Given the description of an element on the screen output the (x, y) to click on. 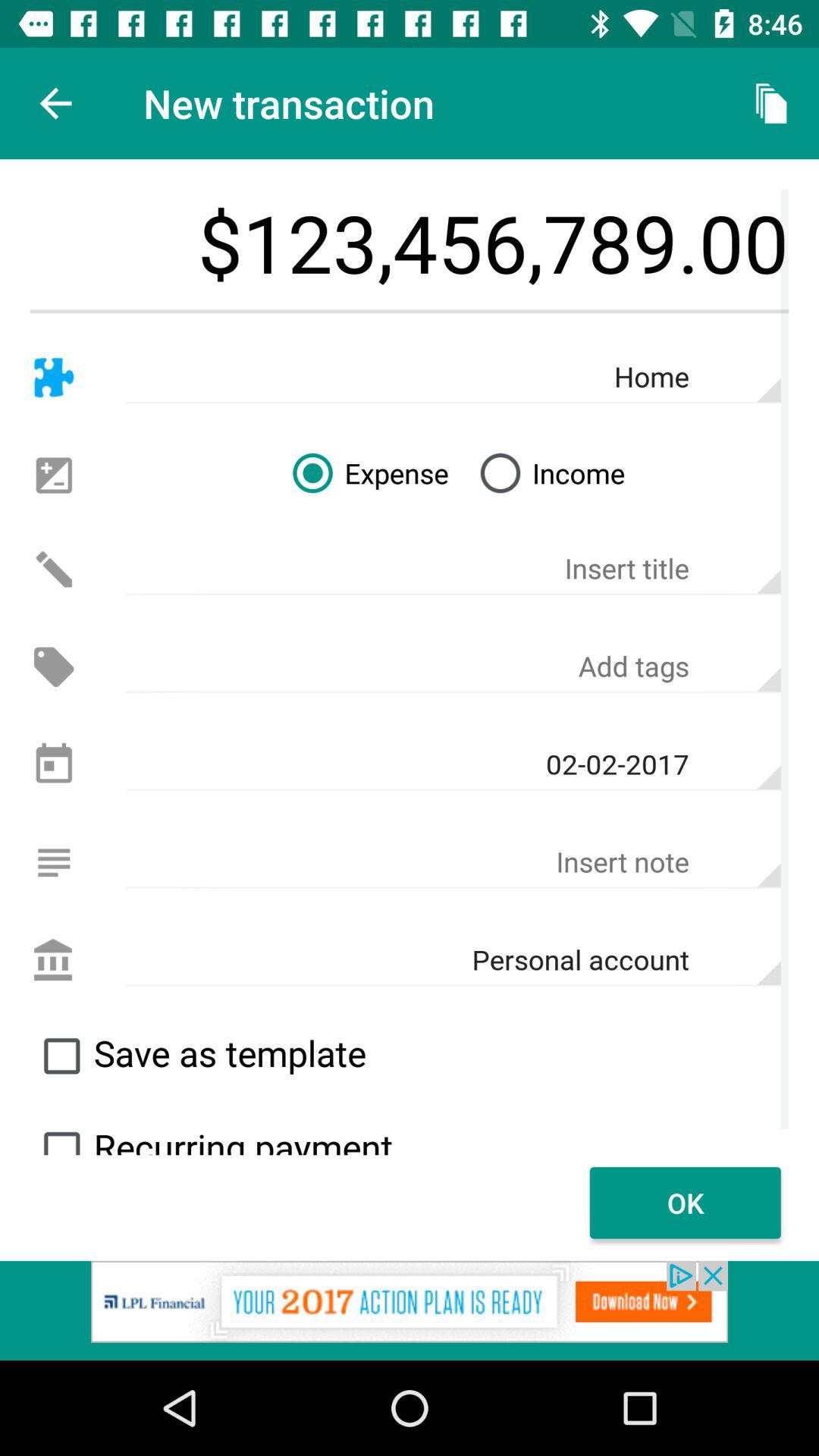
toggle (61, 1136)
